Given the description of an element on the screen output the (x, y) to click on. 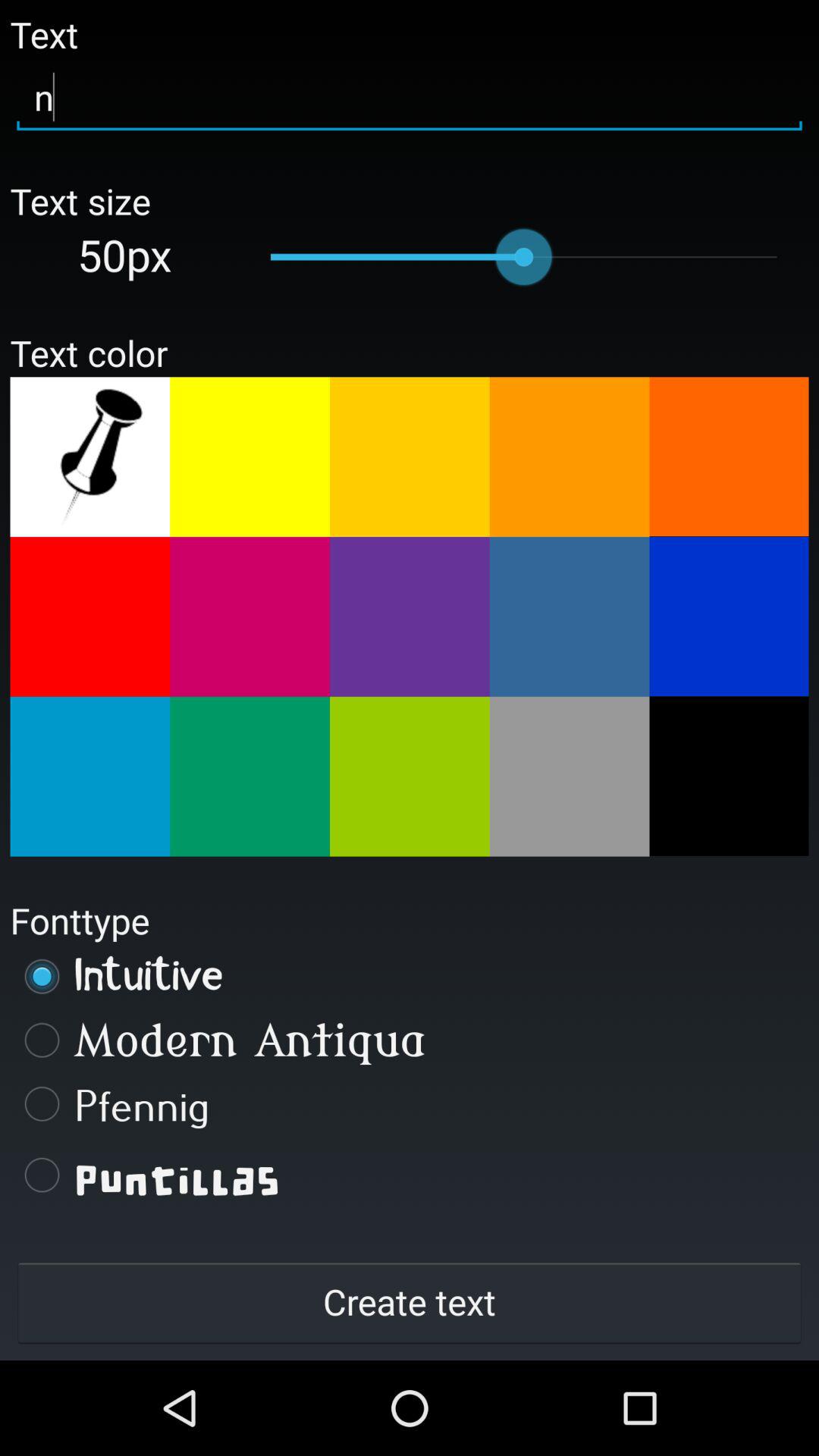
gray text color (569, 776)
